Given the description of an element on the screen output the (x, y) to click on. 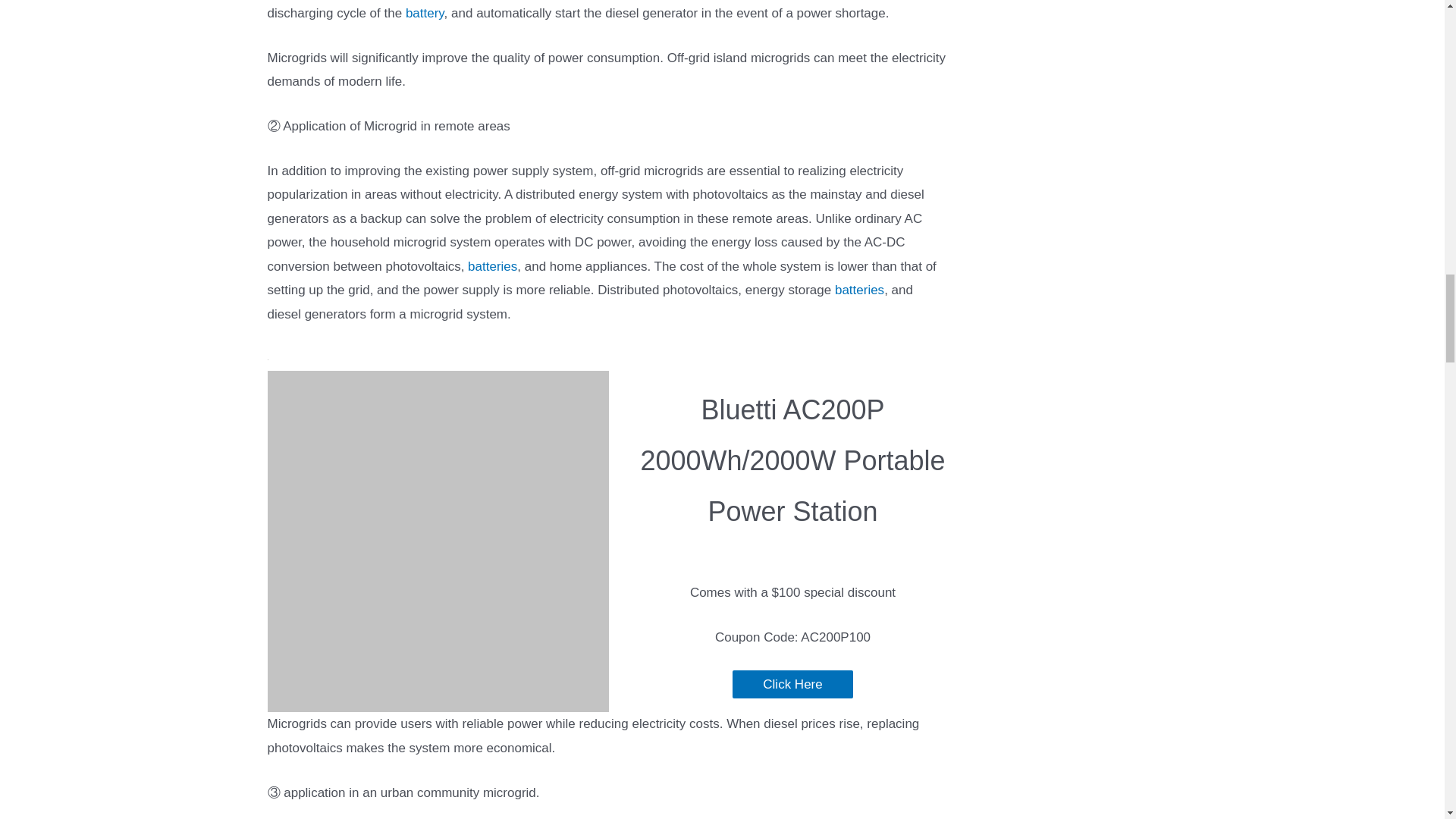
battery (425, 12)
batteries (858, 289)
batteries (491, 266)
Click Here (791, 684)
